Given the description of an element on the screen output the (x, y) to click on. 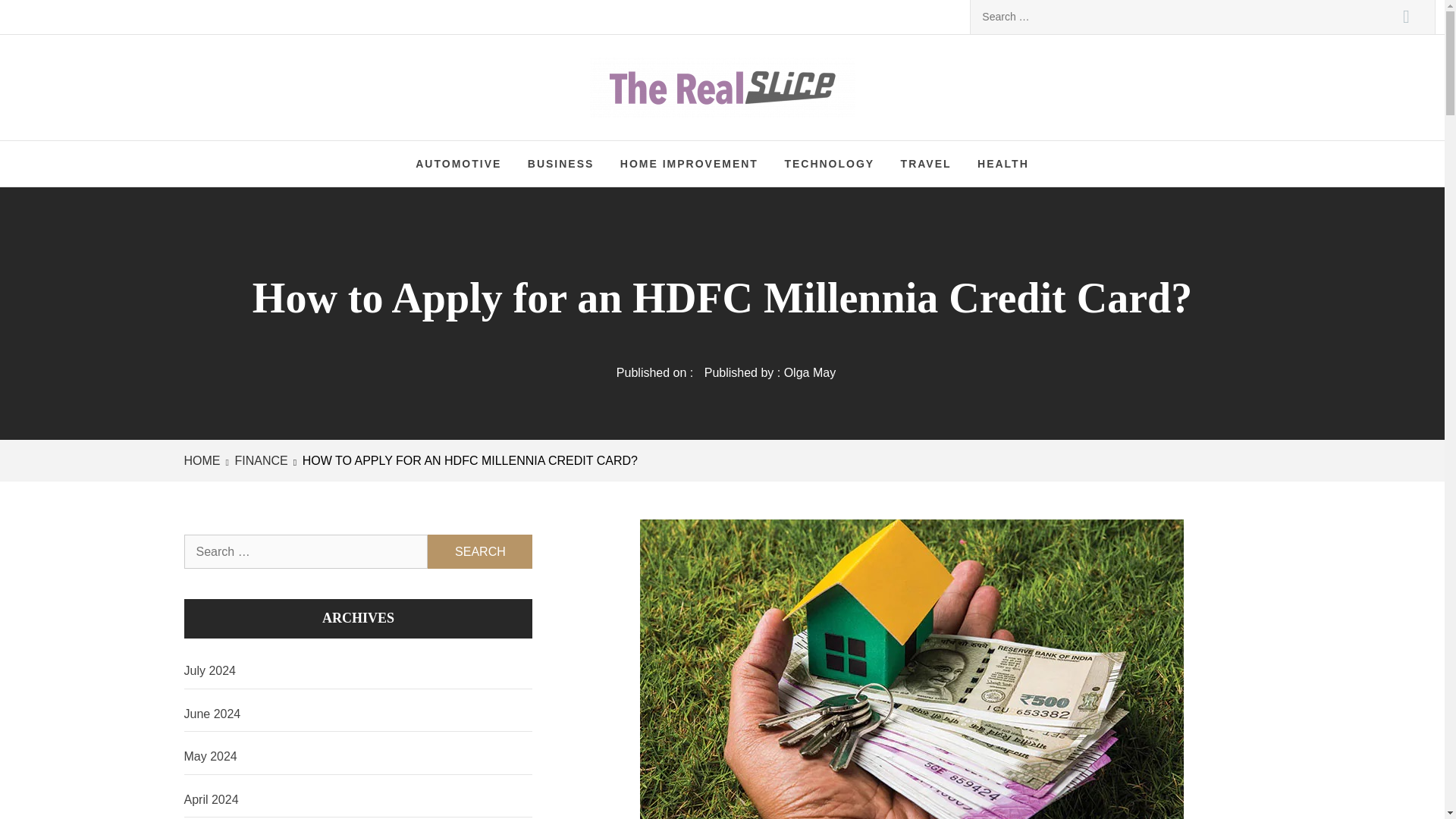
Search (1405, 17)
The Real Slice (732, 90)
July 2024 (357, 671)
BUSINESS (560, 163)
TRAVEL (925, 163)
Search (1405, 17)
Search (480, 551)
Search (480, 551)
HOME IMPROVEMENT (689, 163)
May 2024 (357, 756)
FINANCE (259, 460)
Search (1405, 17)
Olga May (809, 372)
HOW TO APPLY FOR AN HDFC MILLENNIA CREDIT CARD? (468, 460)
HOME (204, 460)
